Given the description of an element on the screen output the (x, y) to click on. 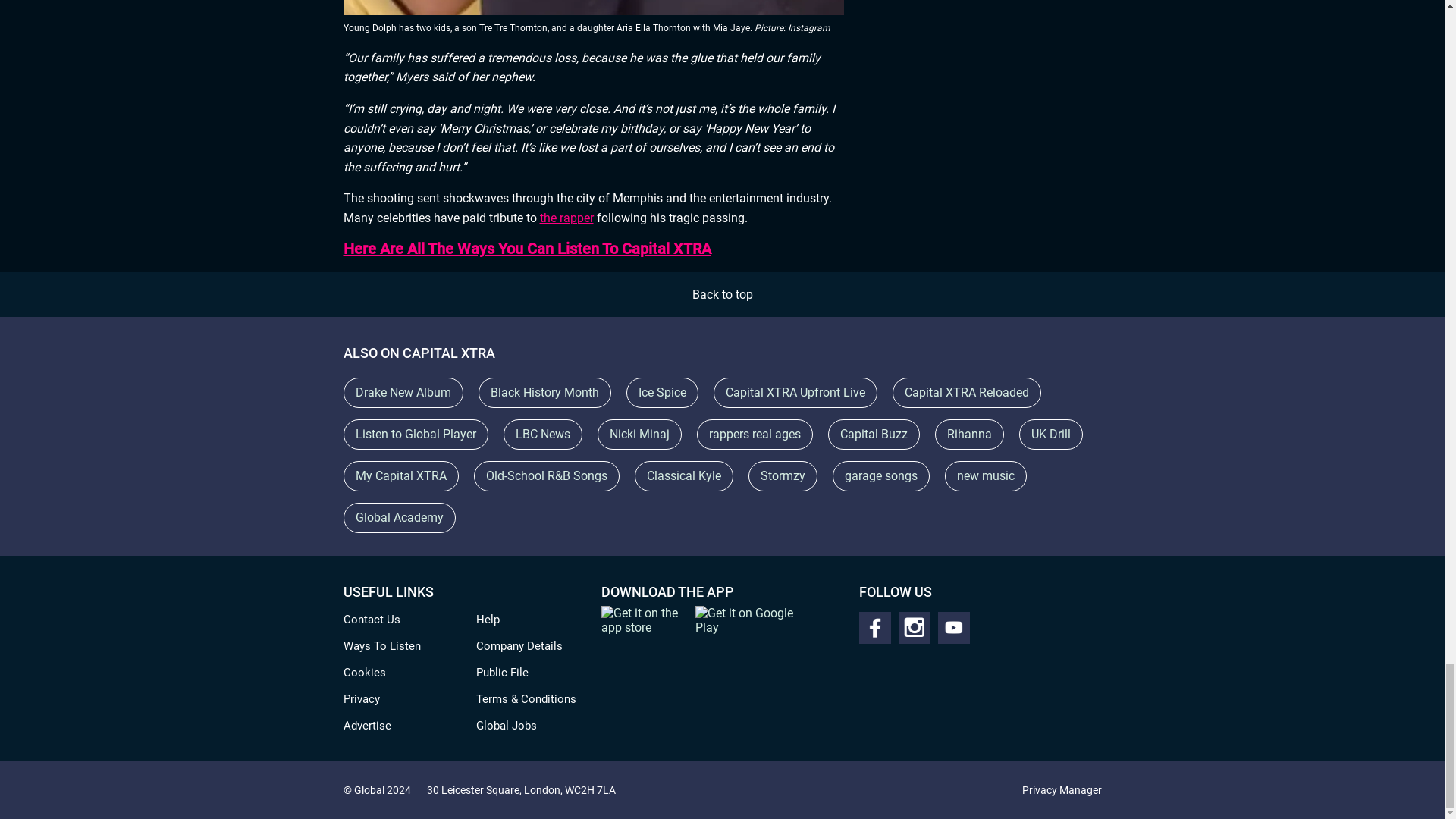
Back to top (721, 294)
Follow CapitalXtra on Youtube (953, 627)
Follow CapitalXtra on Instagram (914, 627)
Follow CapitalXtra on Facebook (874, 627)
